Given the description of an element on the screen output the (x, y) to click on. 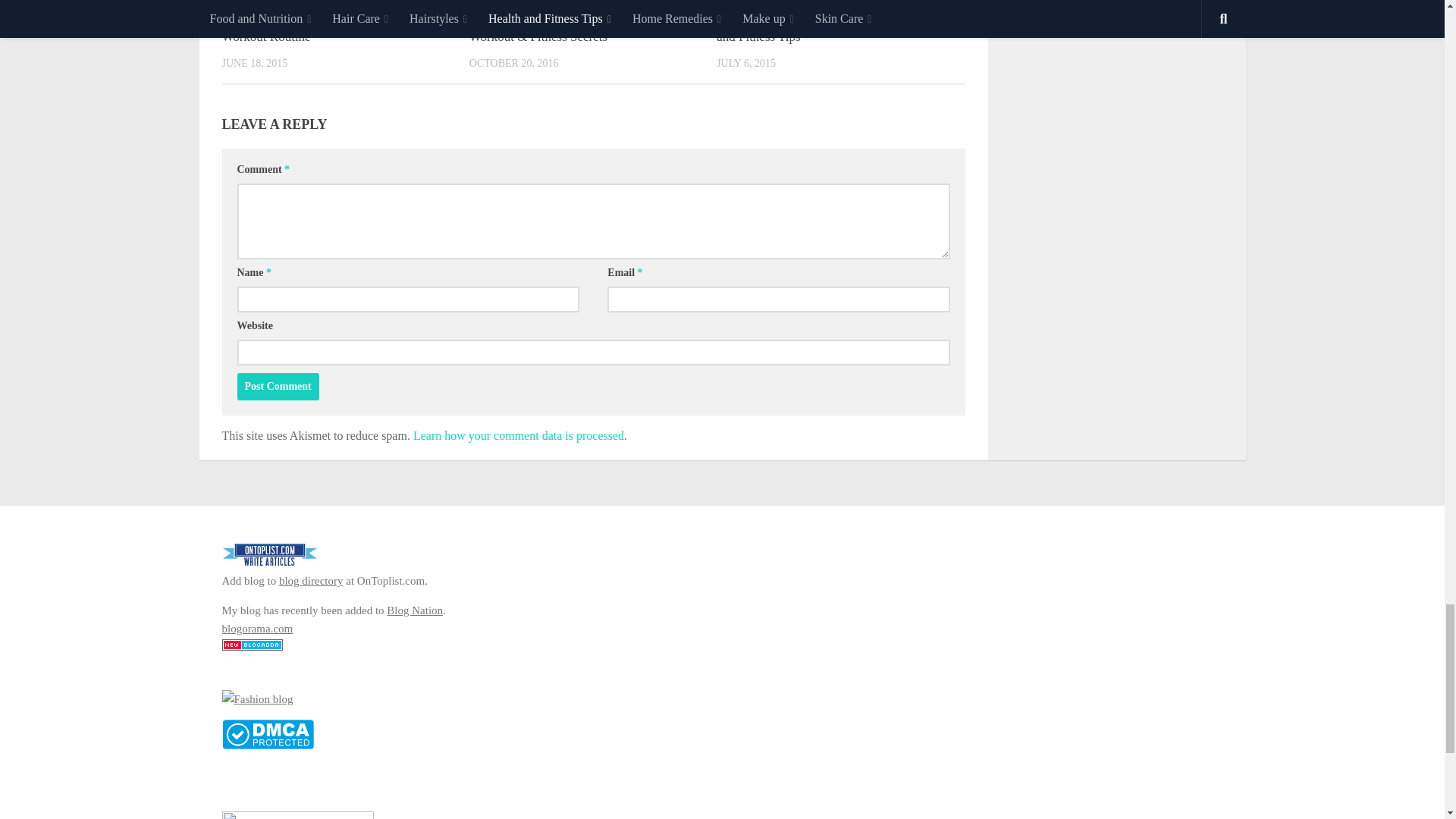
Post Comment (276, 386)
